Given the description of an element on the screen output the (x, y) to click on. 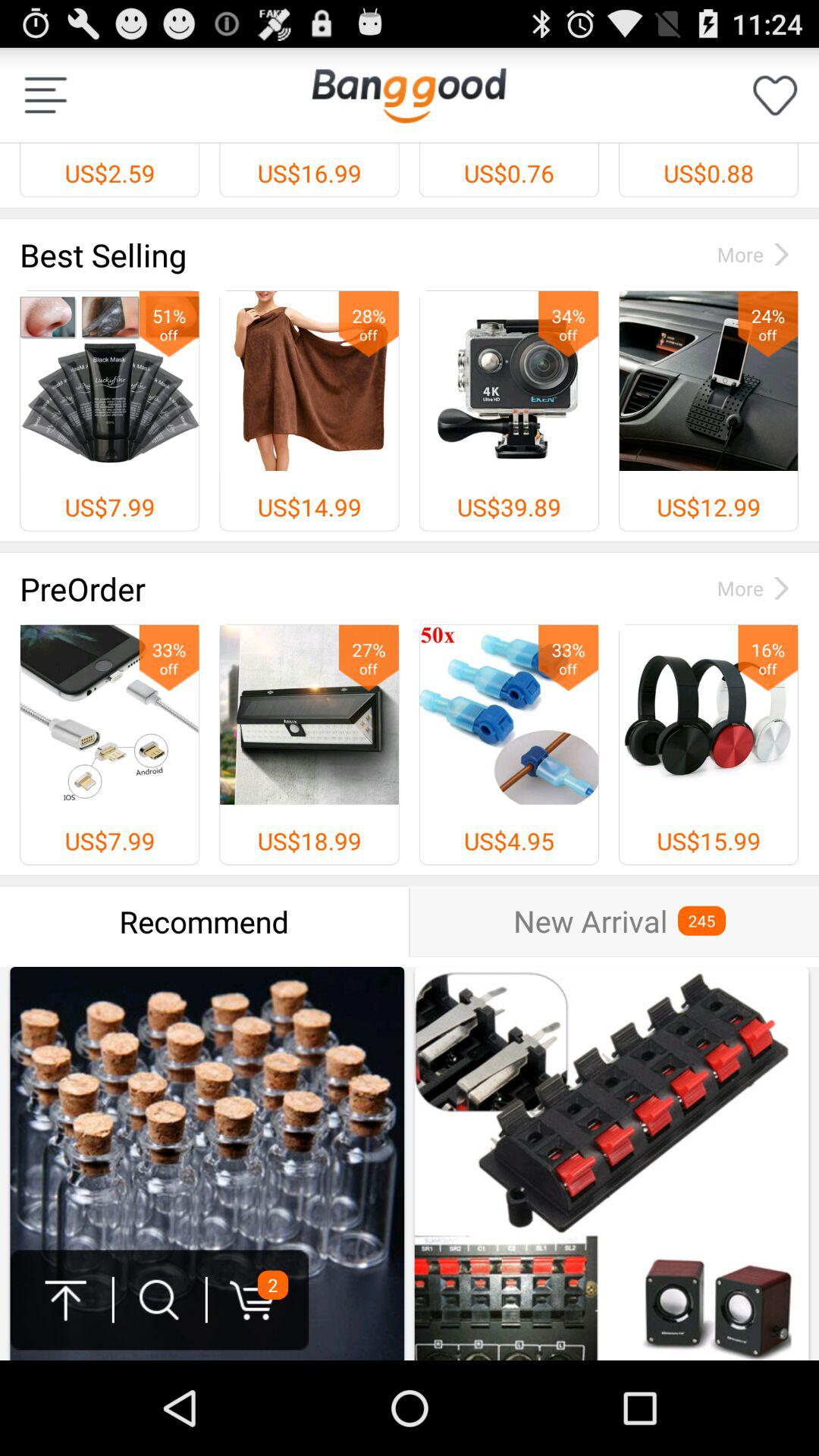
to favorite (775, 95)
